Given the description of an element on the screen output the (x, y) to click on. 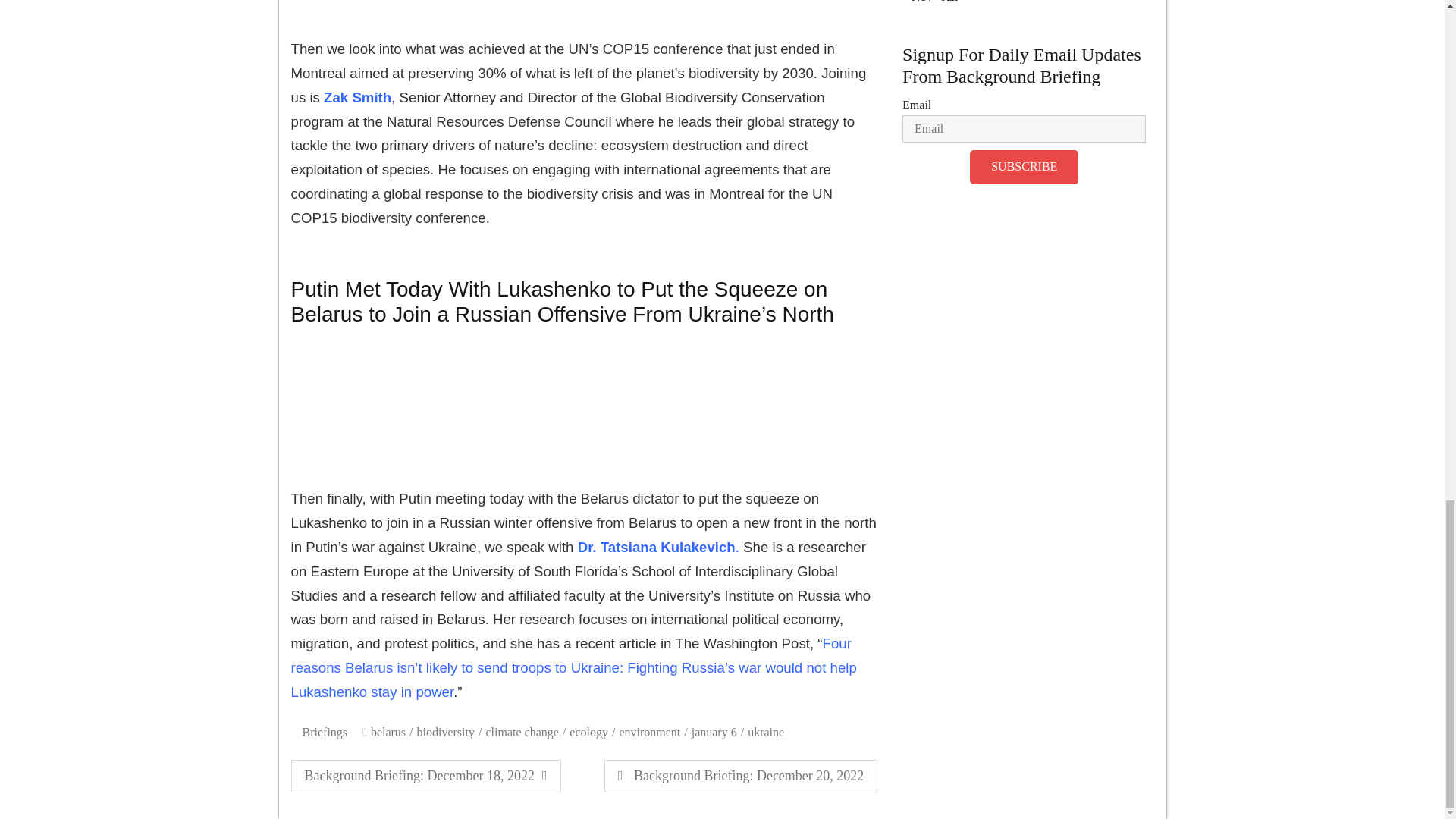
 Dr. Tatsiana Kulakevich. (655, 546)
Briefings (325, 732)
biodiversity (448, 731)
environment (652, 731)
ukraine (767, 731)
belarus (425, 776)
ecology (392, 731)
 Zak Smith (591, 731)
january 6 (355, 97)
